Given the description of an element on the screen output the (x, y) to click on. 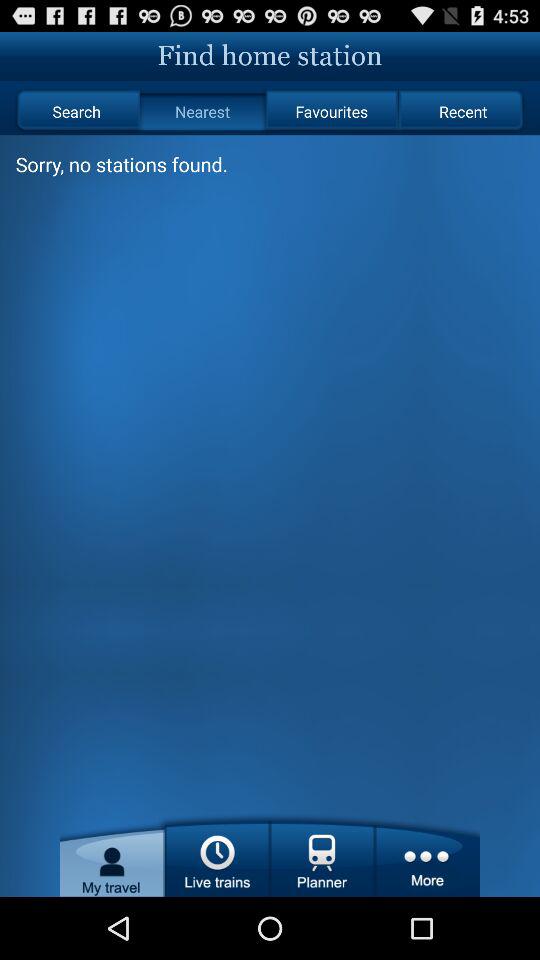
press the recent item (462, 111)
